Given the description of an element on the screen output the (x, y) to click on. 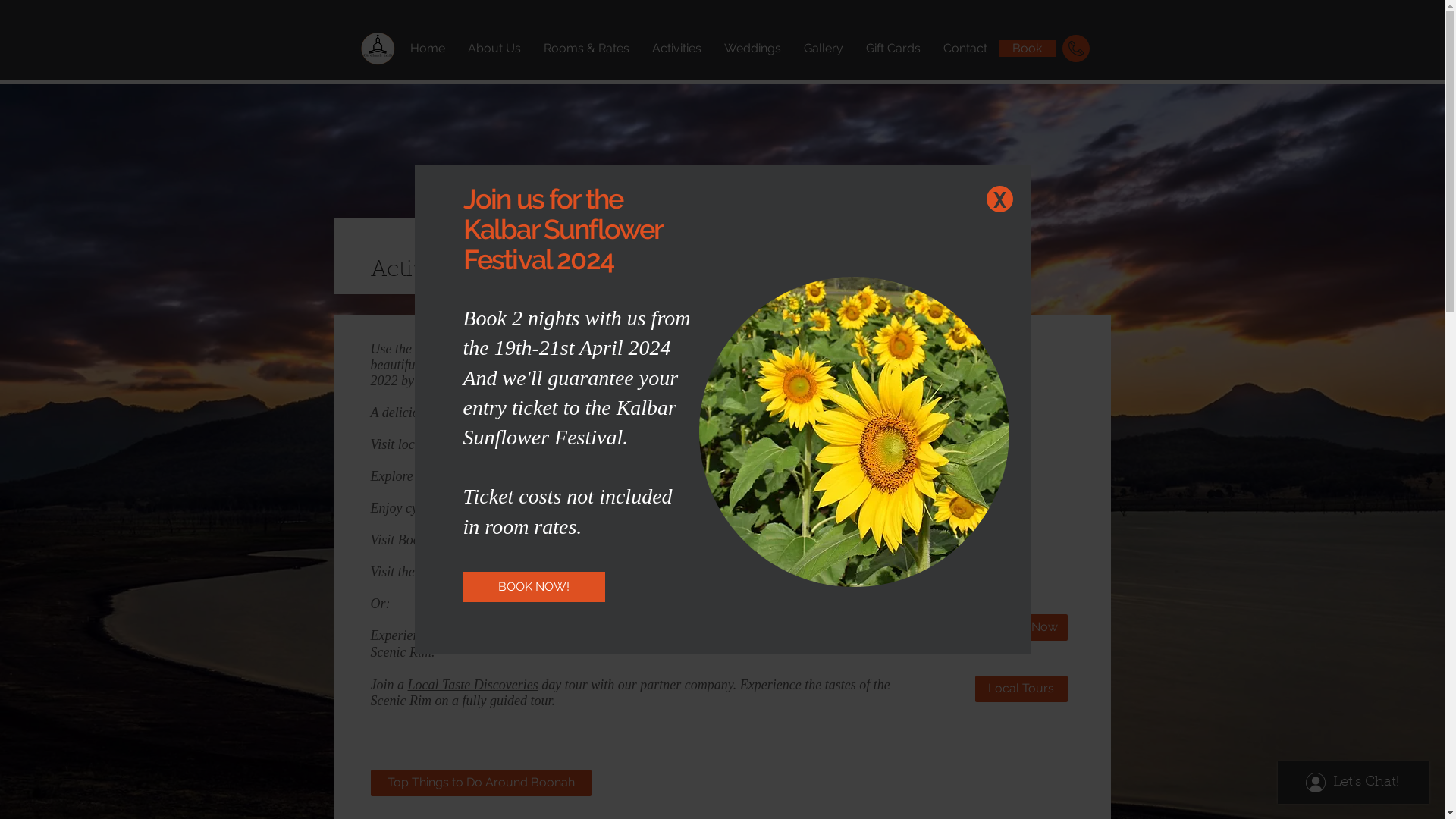
BOOK NOW! Element type: text (533, 586)
About Us Element type: text (494, 48)
Home Element type: text (427, 48)
Top Things to Do Around Boonah Element type: text (480, 782)
Local Tours Element type: text (1021, 688)
Contact Element type: text (964, 48)
Gallery Element type: text (822, 48)
Weddings Element type: text (752, 48)
Rooms & Rates Element type: text (586, 48)
Back to site Element type: hover (998, 199)
Book Element type: text (1026, 48)
Activities Element type: text (676, 48)
Gift Cards Element type: text (892, 48)
Enquire Now Element type: text (1021, 627)
Local Taste Discoveries Element type: text (472, 684)
